Given the description of an element on the screen output the (x, y) to click on. 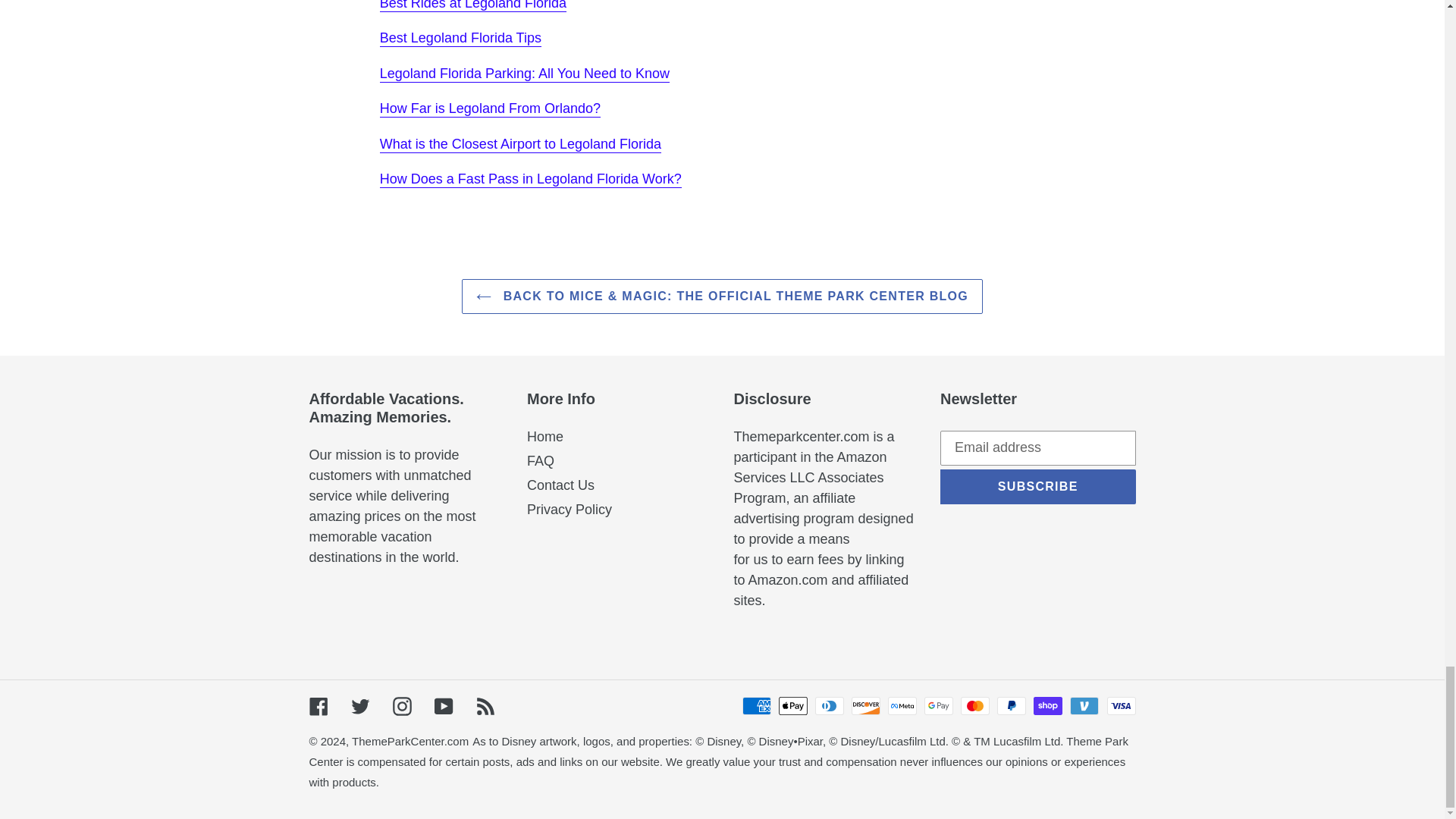
how far is legoland from orlando (489, 108)
legoland florida parking (524, 74)
fast pass legoland florida (530, 179)
legoland florida tips (460, 38)
closest airport to legoland florida (520, 144)
best rides at legoland florida (473, 6)
